Given the description of an element on the screen output the (x, y) to click on. 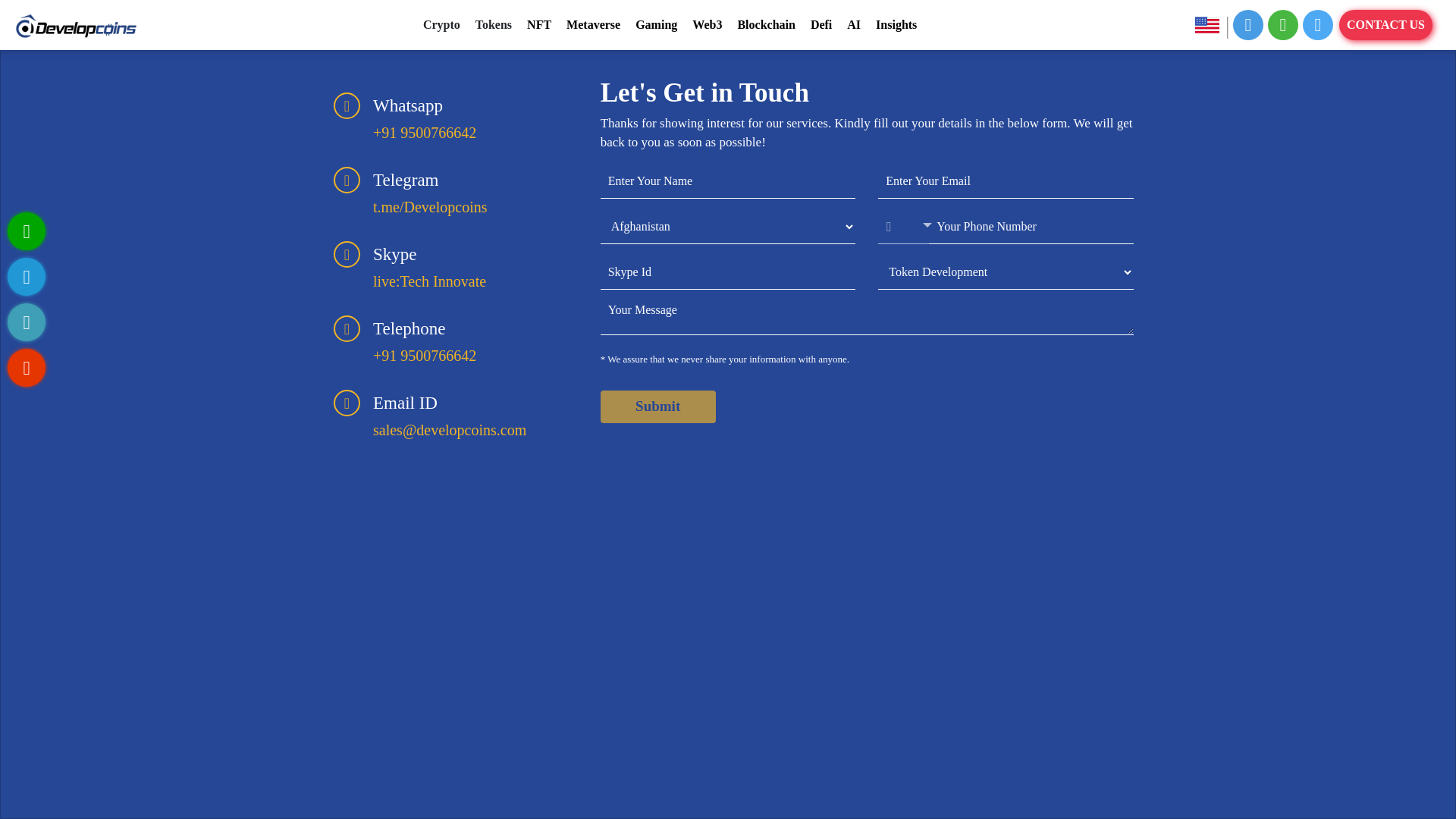
Telegram Us (1248, 24)
Submit (657, 406)
live:Tech Innovate (413, 280)
Developcoins (75, 24)
Whatsapp Us (1283, 24)
flag (1207, 24)
Skype Us (1318, 24)
Whatsapp Us (408, 132)
